Given the description of an element on the screen output the (x, y) to click on. 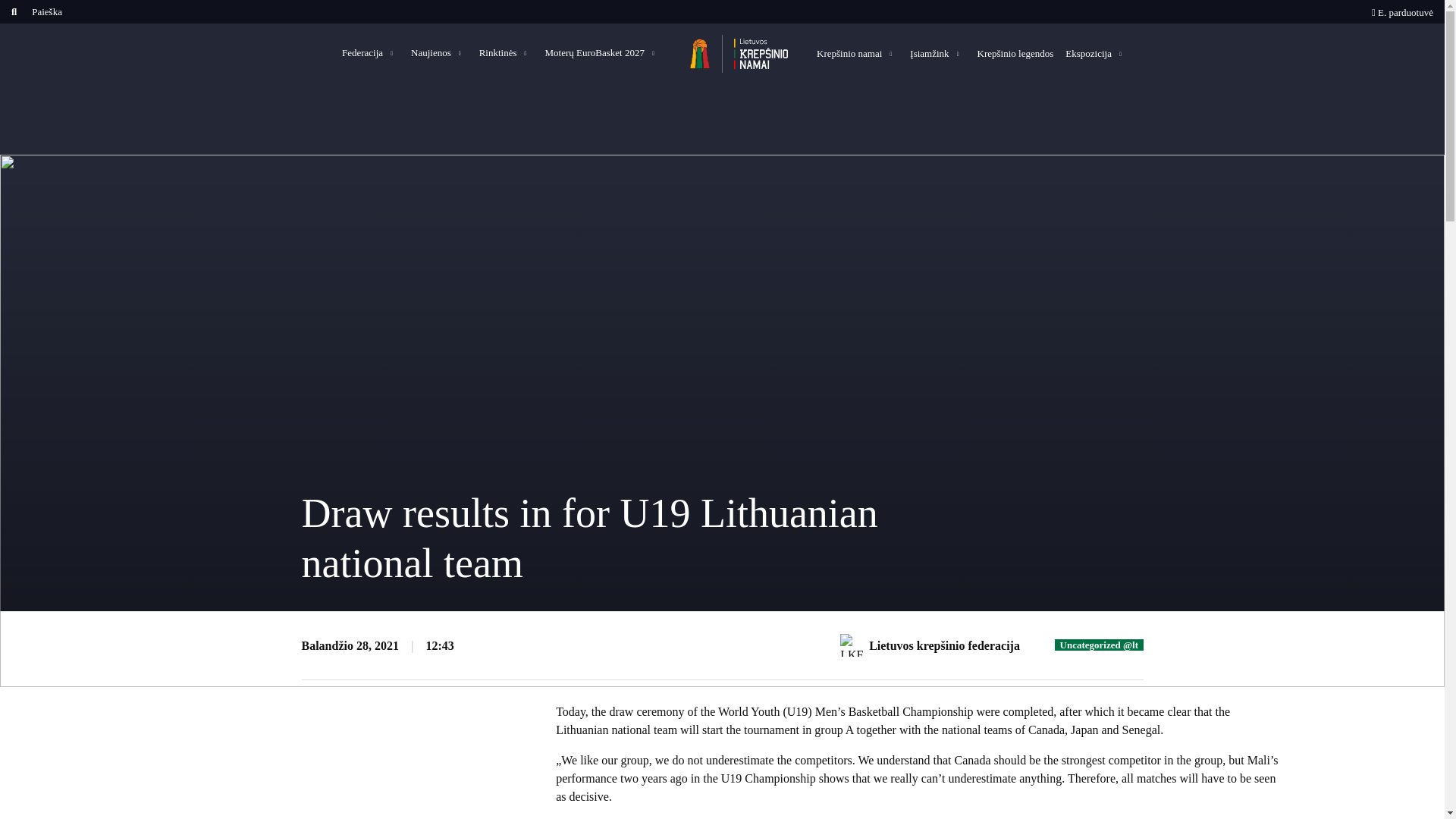
Naujienos (438, 52)
Federacija (370, 52)
Federacija (370, 52)
